Given the description of an element on the screen output the (x, y) to click on. 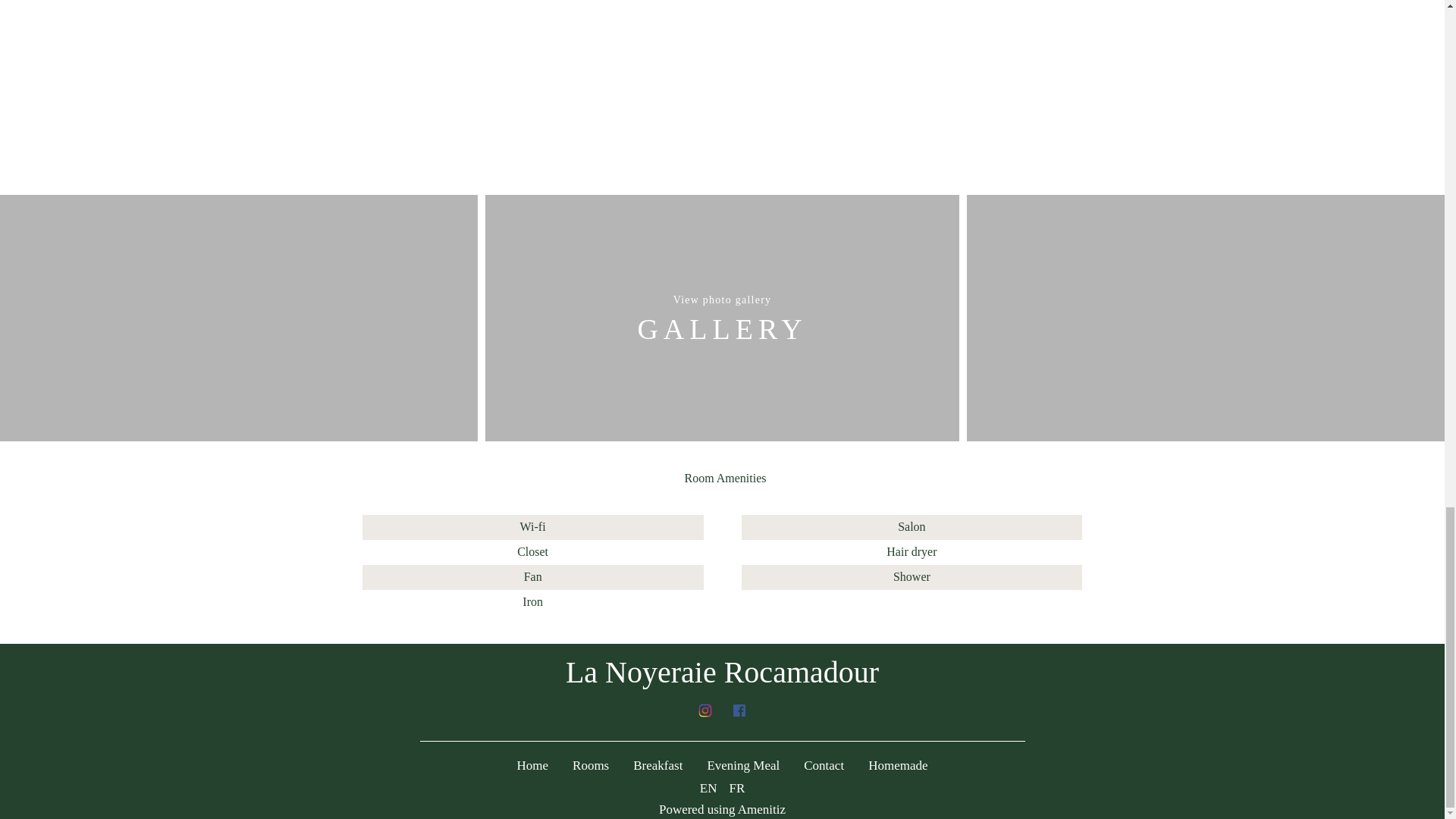
Breakfast (657, 765)
Homemade (897, 765)
Powered using Amenitiz (722, 809)
Home (532, 765)
Contact (823, 765)
Rooms (590, 765)
Evening Meal (742, 765)
EN (708, 788)
FR (736, 788)
